Given the description of an element on the screen output the (x, y) to click on. 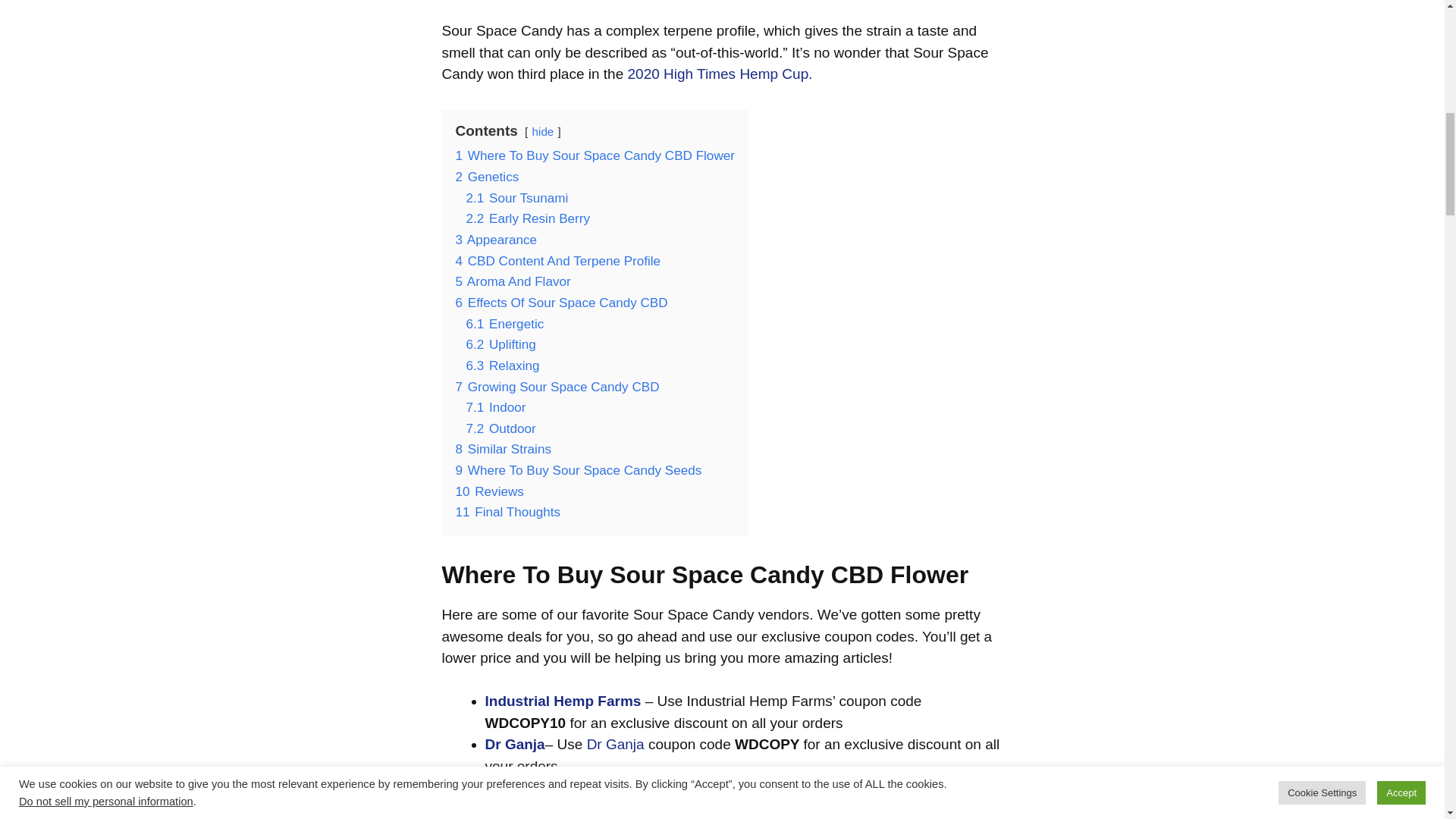
7 Growing Sour Space Candy CBD (556, 386)
6.2 Uplifting (500, 344)
5 Aroma And Flavor (512, 281)
4 CBD Content And Terpene Profile (557, 260)
hide (543, 131)
2020 High Times Hemp Cup. (719, 73)
2.2 Early Resin Berry (527, 218)
Avid Hemp (524, 809)
2 Genetics (486, 176)
Dr Ganja (615, 744)
